Given the description of an element on the screen output the (x, y) to click on. 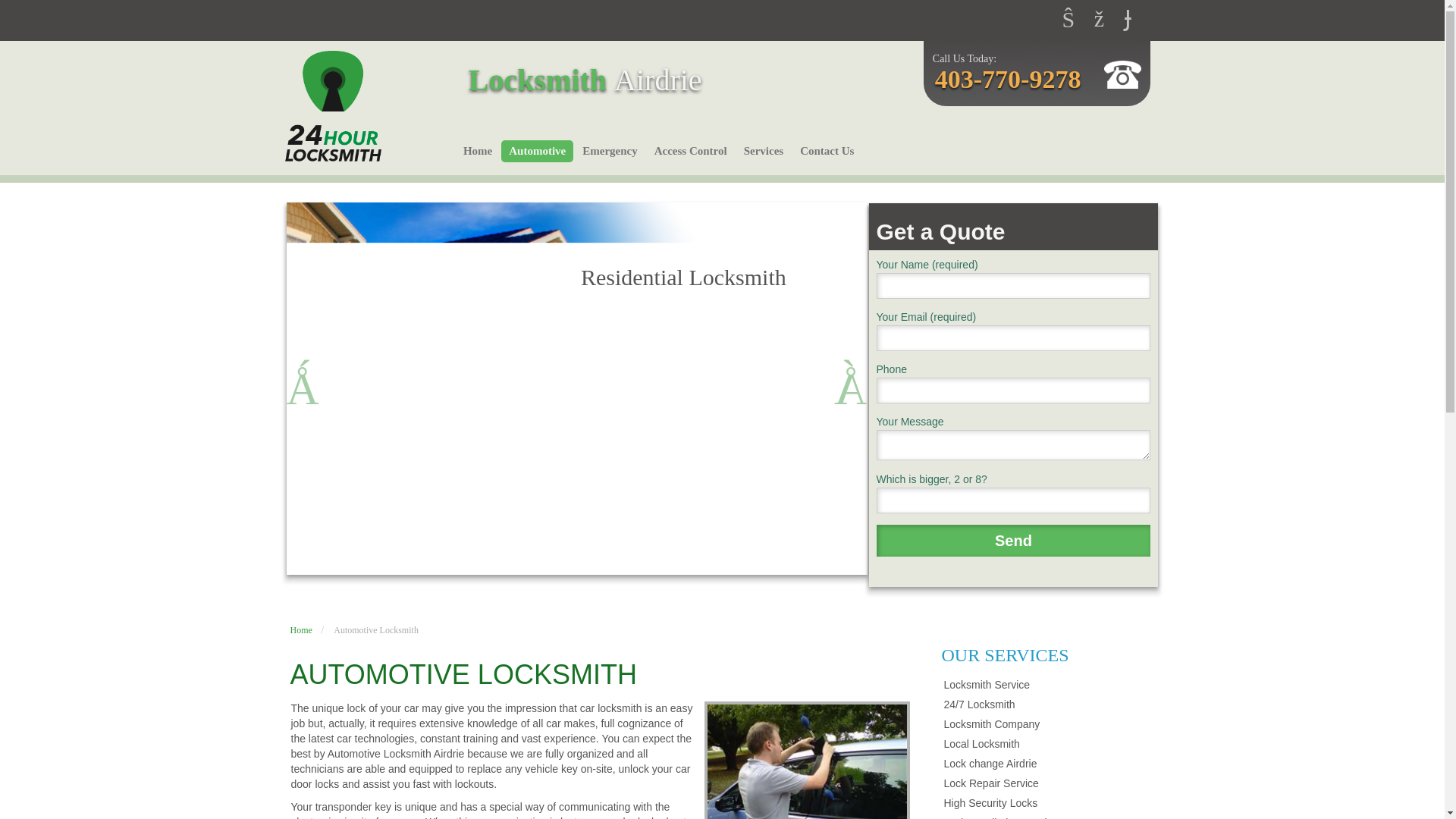
Automotive (536, 151)
Send (1013, 540)
Home (477, 151)
